Given the description of an element on the screen output the (x, y) to click on. 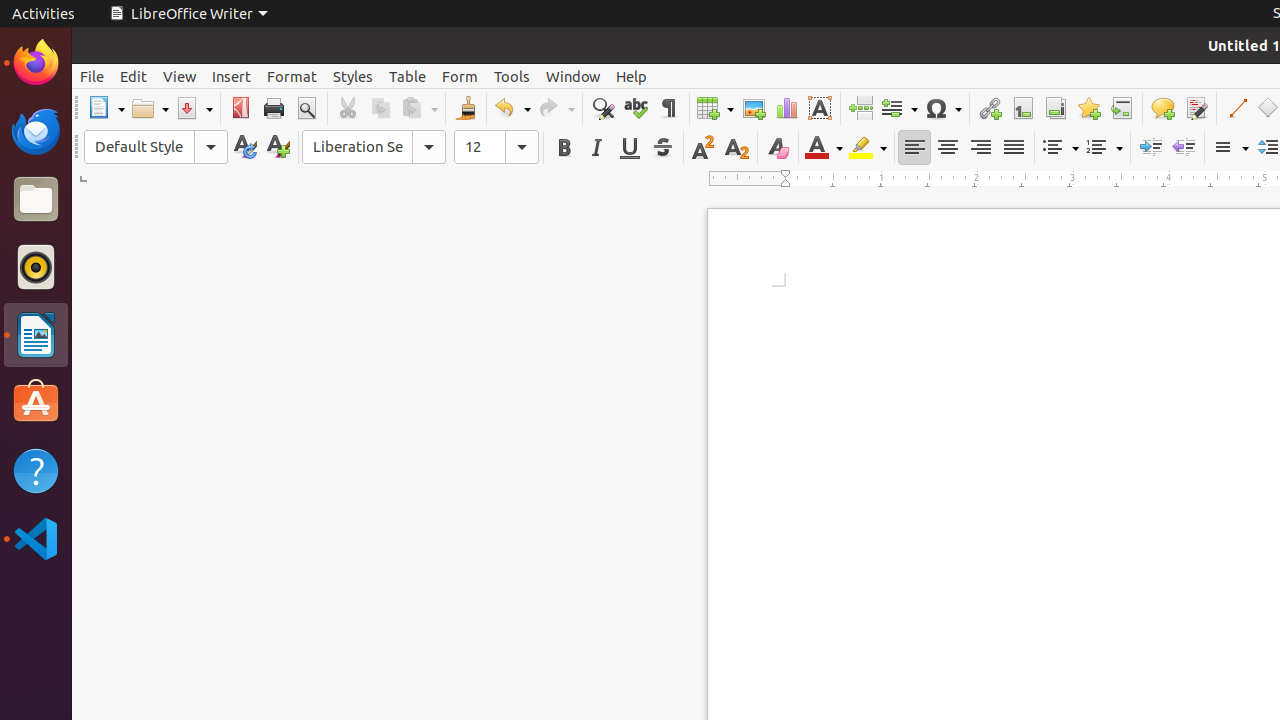
Numbering Element type: push-button (1104, 147)
Strikethrough Element type: toggle-button (662, 147)
Thunderbird Mail Element type: push-button (36, 131)
Help Element type: push-button (36, 470)
Ubuntu Software Element type: push-button (36, 402)
